Given the description of an element on the screen output the (x, y) to click on. 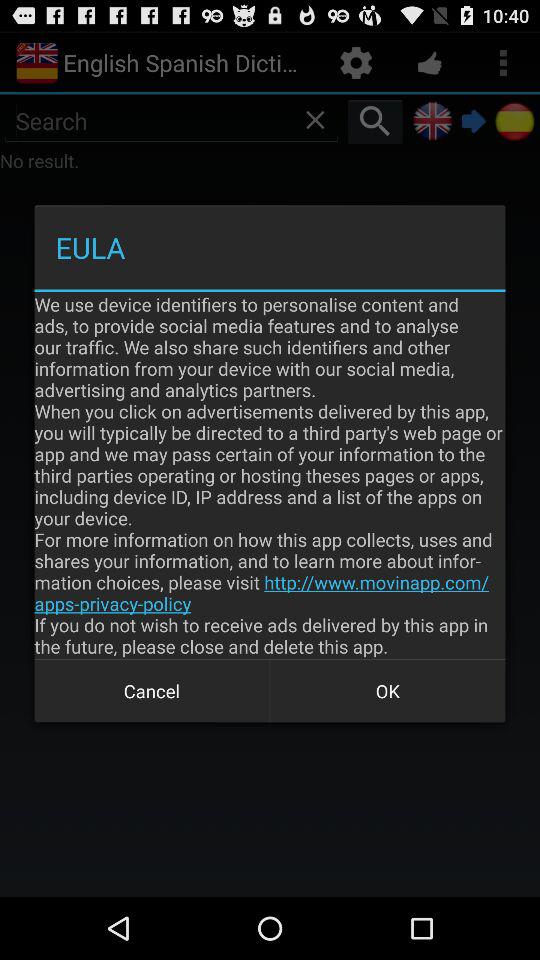
open the icon to the left of ok item (151, 690)
